Given the description of an element on the screen output the (x, y) to click on. 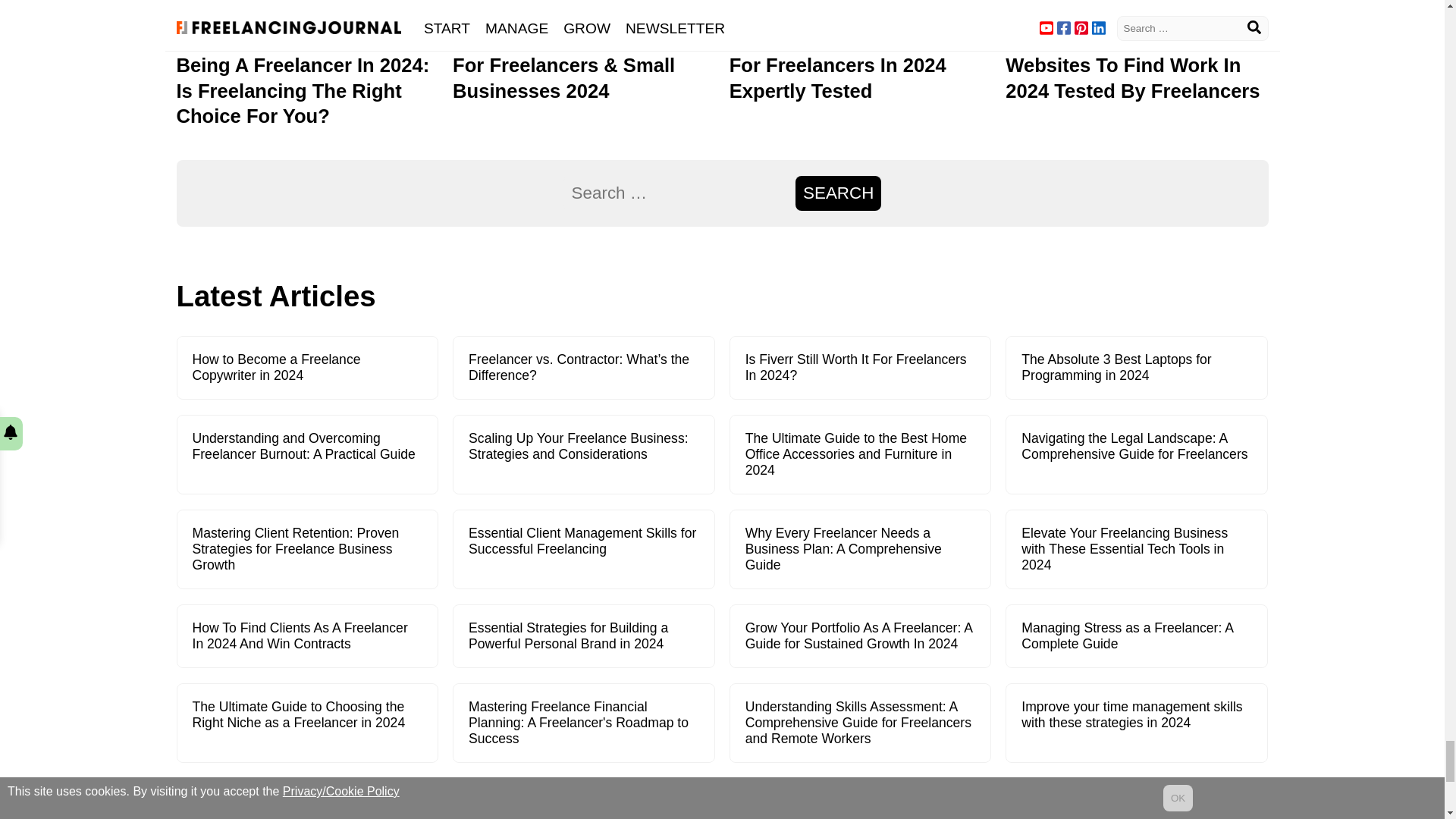
How to Become a Freelance Copywriter in 2024 (276, 367)
The Absolute 3 Best Laptops for Programming in 2024 (1116, 367)
Is Fiverr Still Worth It For Freelancers In 2024? (855, 367)
